Given the description of an element on the screen output the (x, y) to click on. 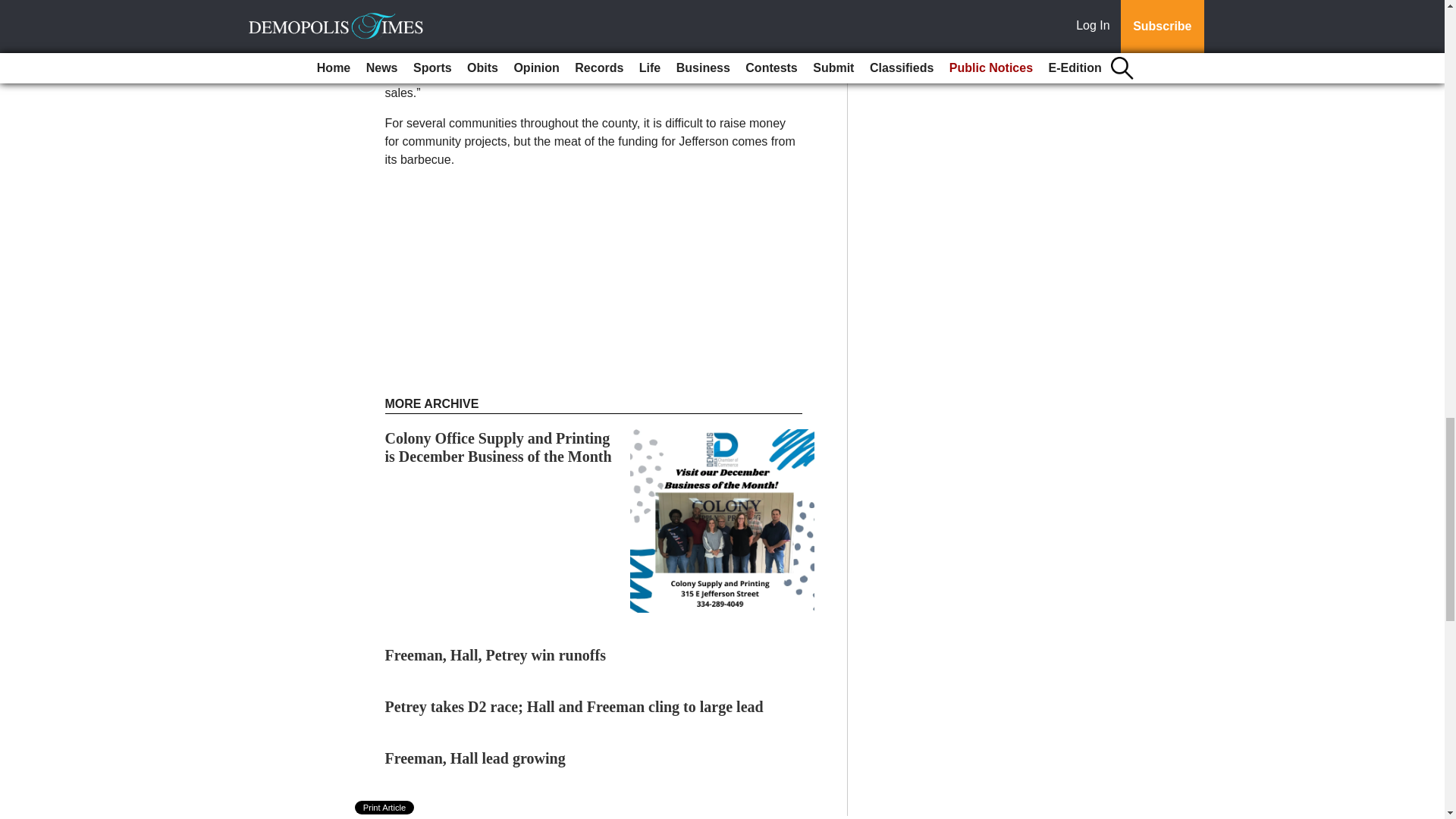
Freeman, Hall, Petrey win runoffs (495, 655)
Petrey takes D2 race; Hall and Freeman cling to large lead (573, 706)
Print Article (384, 807)
Freeman, Hall lead growing (475, 758)
Freeman, Hall lead growing (475, 758)
Freeman, Hall, Petrey win runoffs (495, 655)
Petrey takes D2 race; Hall and Freeman cling to large lead (573, 706)
